Given the description of an element on the screen output the (x, y) to click on. 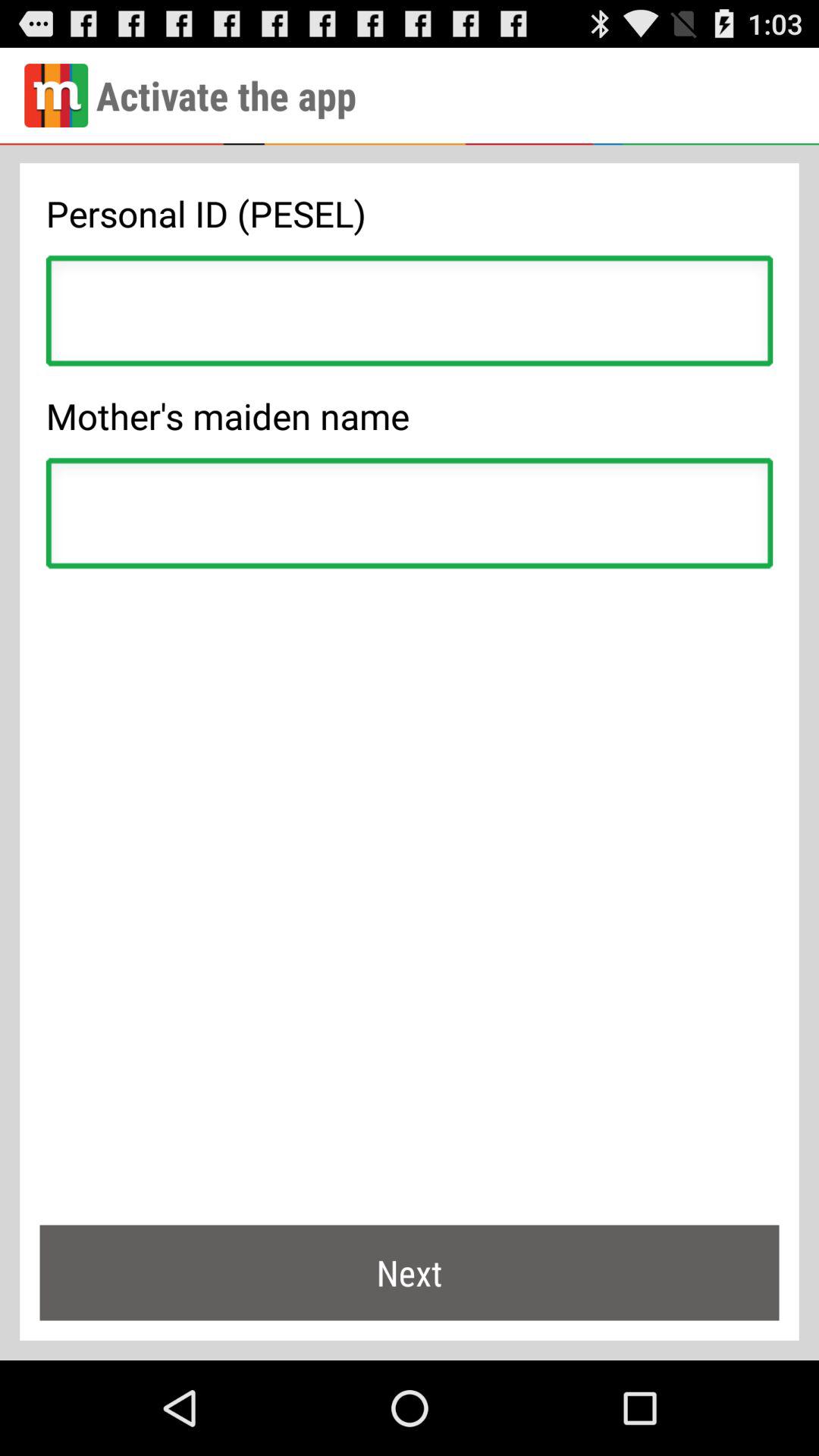
enter mother 's maiden name (409, 516)
